Given the description of an element on the screen output the (x, y) to click on. 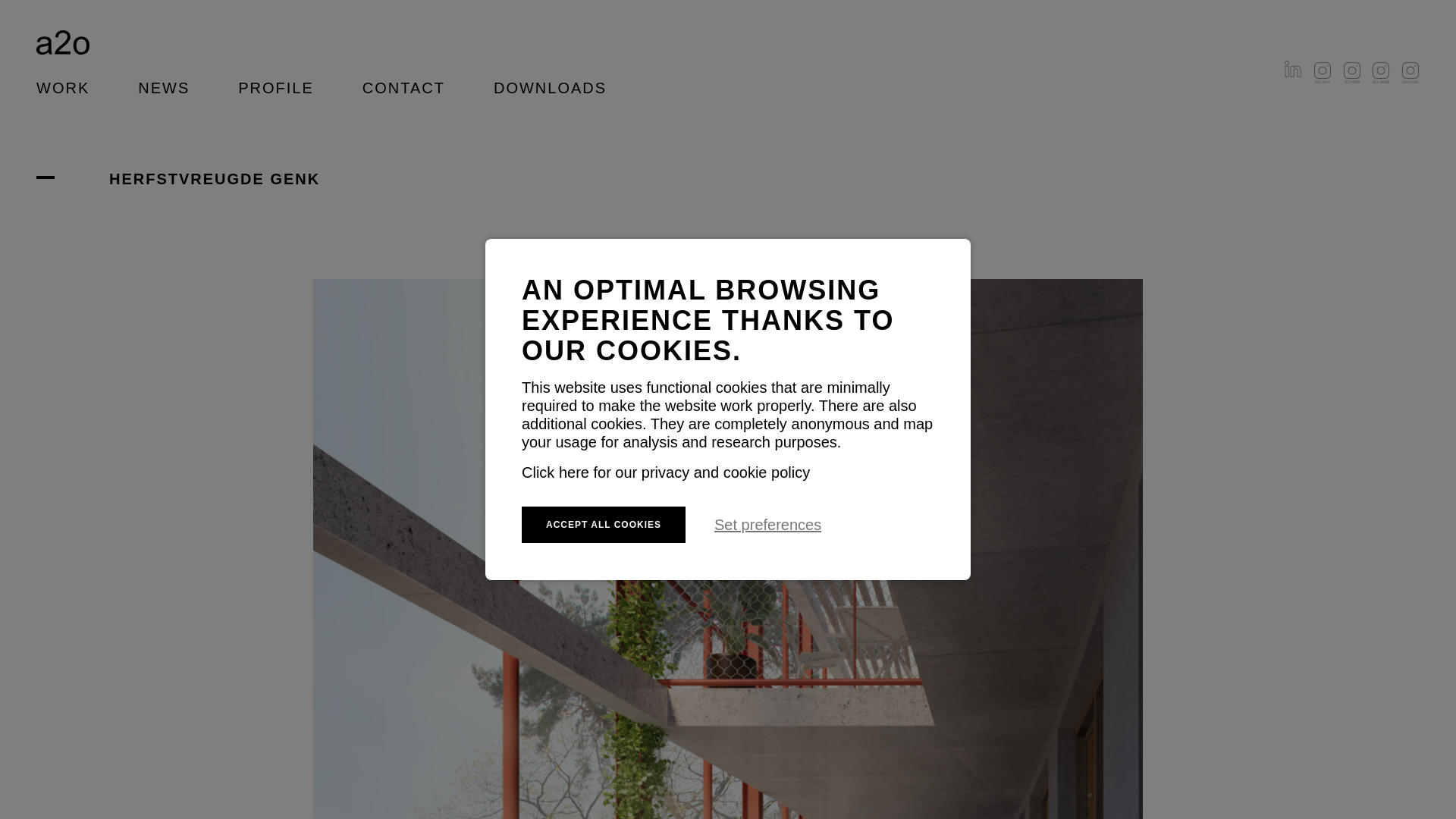
NEWS Element type: text (163, 87)
Set preferences Element type: text (767, 524)
WORK Element type: text (62, 87)
Click here for our privacy and cookie policy Element type: text (665, 472)
PROFILE Element type: text (275, 87)
ACCEPT ALL COOKIES Element type: text (603, 524)
DOWNLOADS Element type: text (549, 87)
CONTACT Element type: text (403, 87)
